Given the description of an element on the screen output the (x, y) to click on. 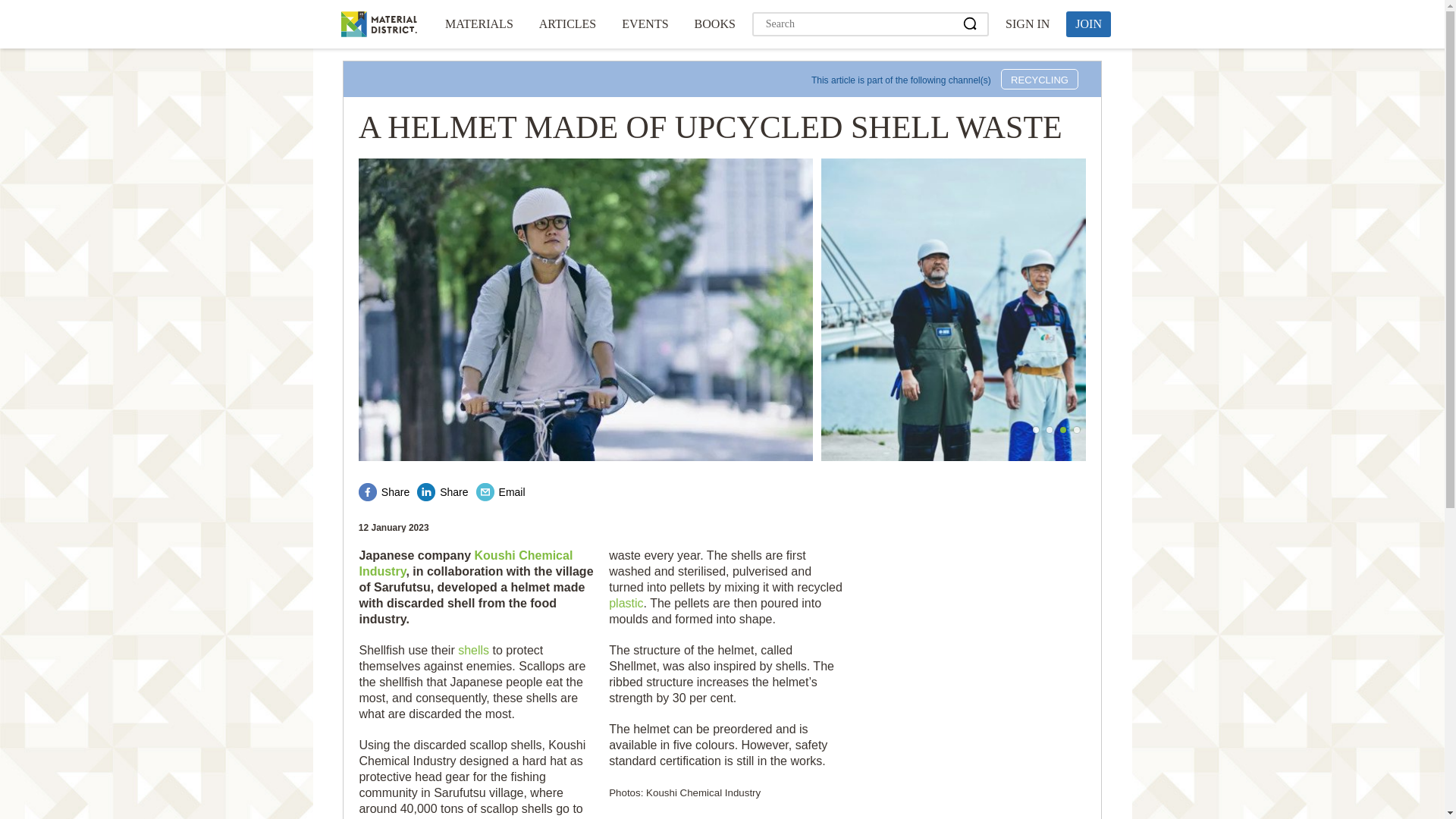
Search (970, 24)
Share (441, 492)
Stuur deze pagina per email (500, 492)
RECYCLING (1039, 78)
shells (473, 649)
BOOKS (714, 23)
SIGN IN (1026, 23)
MATERIALS (478, 23)
EVENTS (644, 23)
ARTICLES (567, 23)
plastic (625, 603)
Email (500, 492)
Koushi Chemical Industry (465, 563)
Search (970, 24)
MATERIALDISTRICT (378, 23)
